Given the description of an element on the screen output the (x, y) to click on. 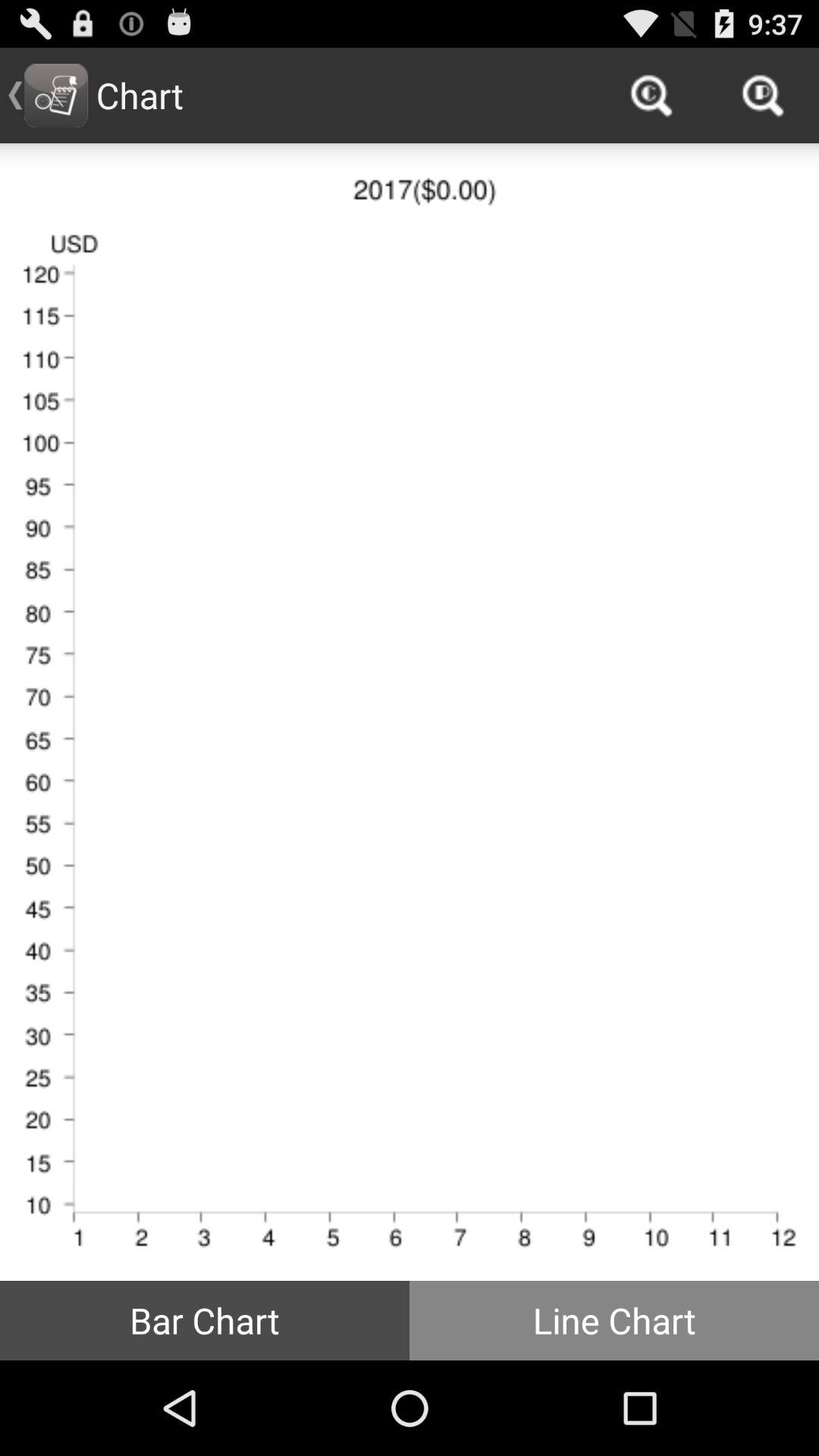
turn on the bar chart button (204, 1320)
